Given the description of an element on the screen output the (x, y) to click on. 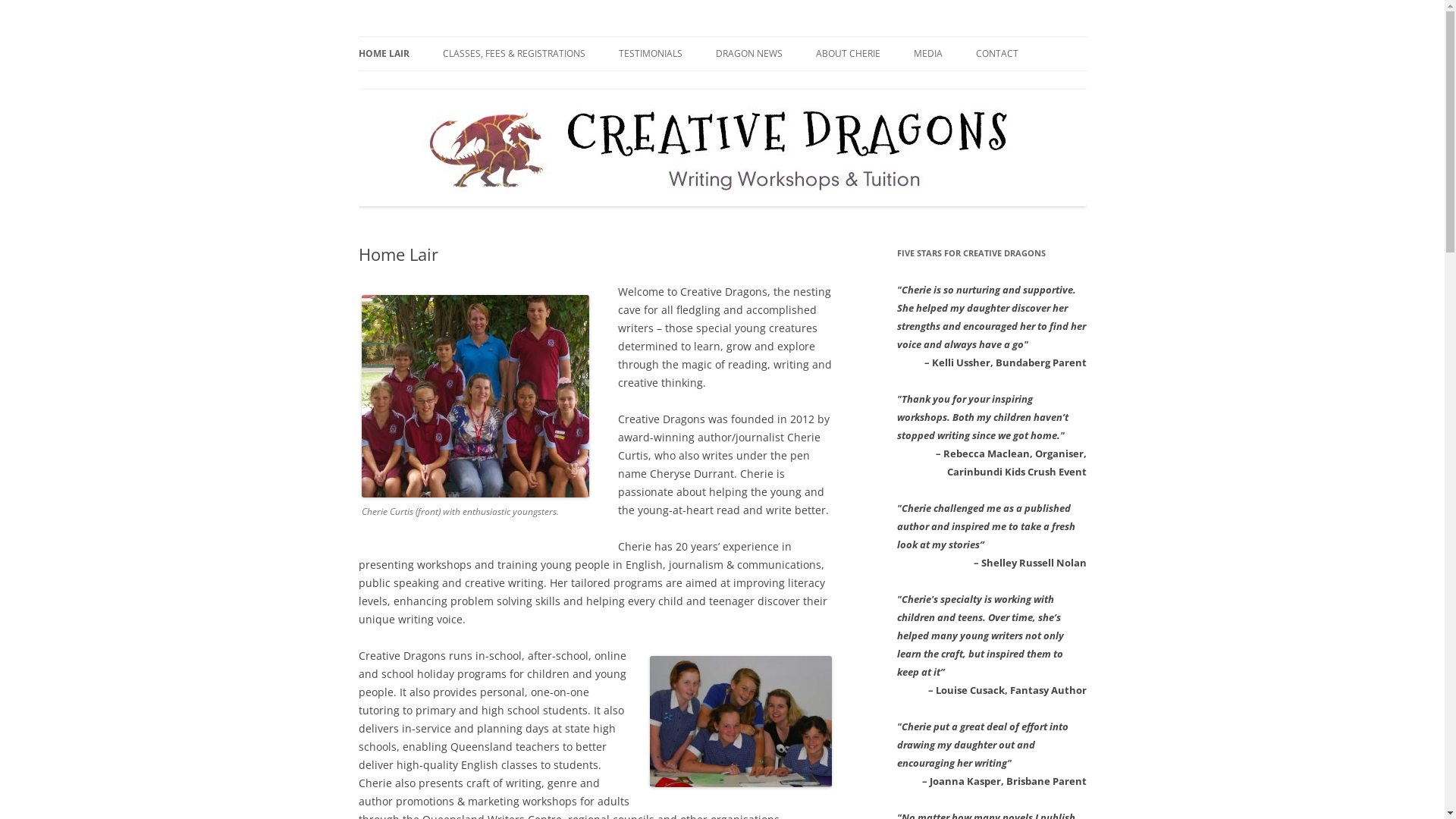
ABOUT CHERIE Element type: text (847, 53)
CLASSES, FEES & REGISTRATIONS Element type: text (513, 53)
CREATIVE DRAGONS TAKE OFF Element type: text (988, 85)
Skip to content Element type: text (721, 36)
Creative Dragons Element type: text (442, 36)
MEDIA Element type: text (927, 53)
HOME LAIR Element type: text (382, 53)
DRAGON NEWS Element type: text (748, 53)
CONTACT Element type: text (996, 53)
TESTIMONIALS Element type: text (650, 53)
